Given the description of an element on the screen output the (x, y) to click on. 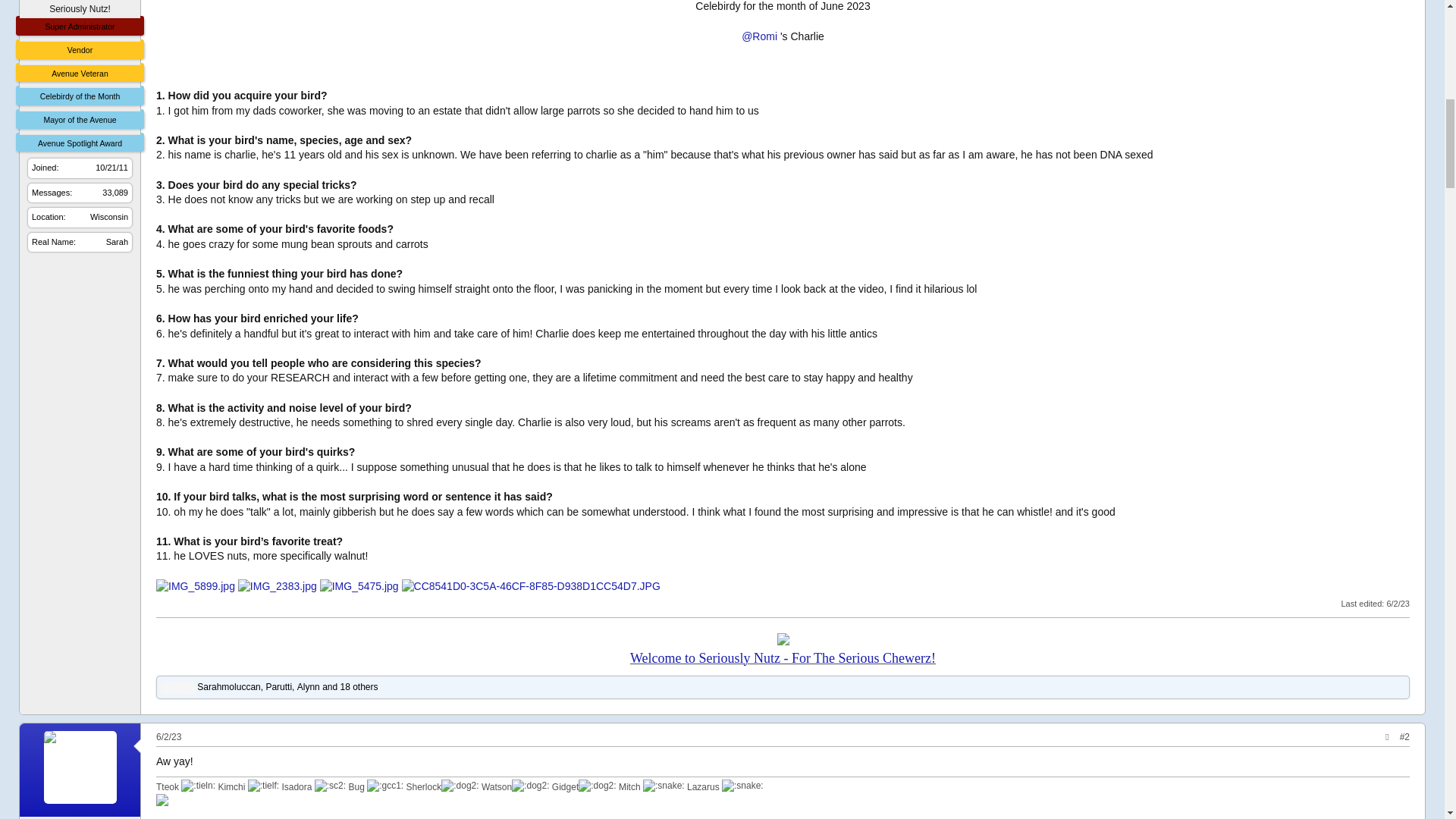
Macawnutz (78, 0)
CC8541D0-3C5A-46CF-8F85-D938D1CC54D7.JPG (531, 586)
Love (167, 687)
Wisconsin (109, 216)
Like (177, 687)
